Given the description of an element on the screen output the (x, y) to click on. 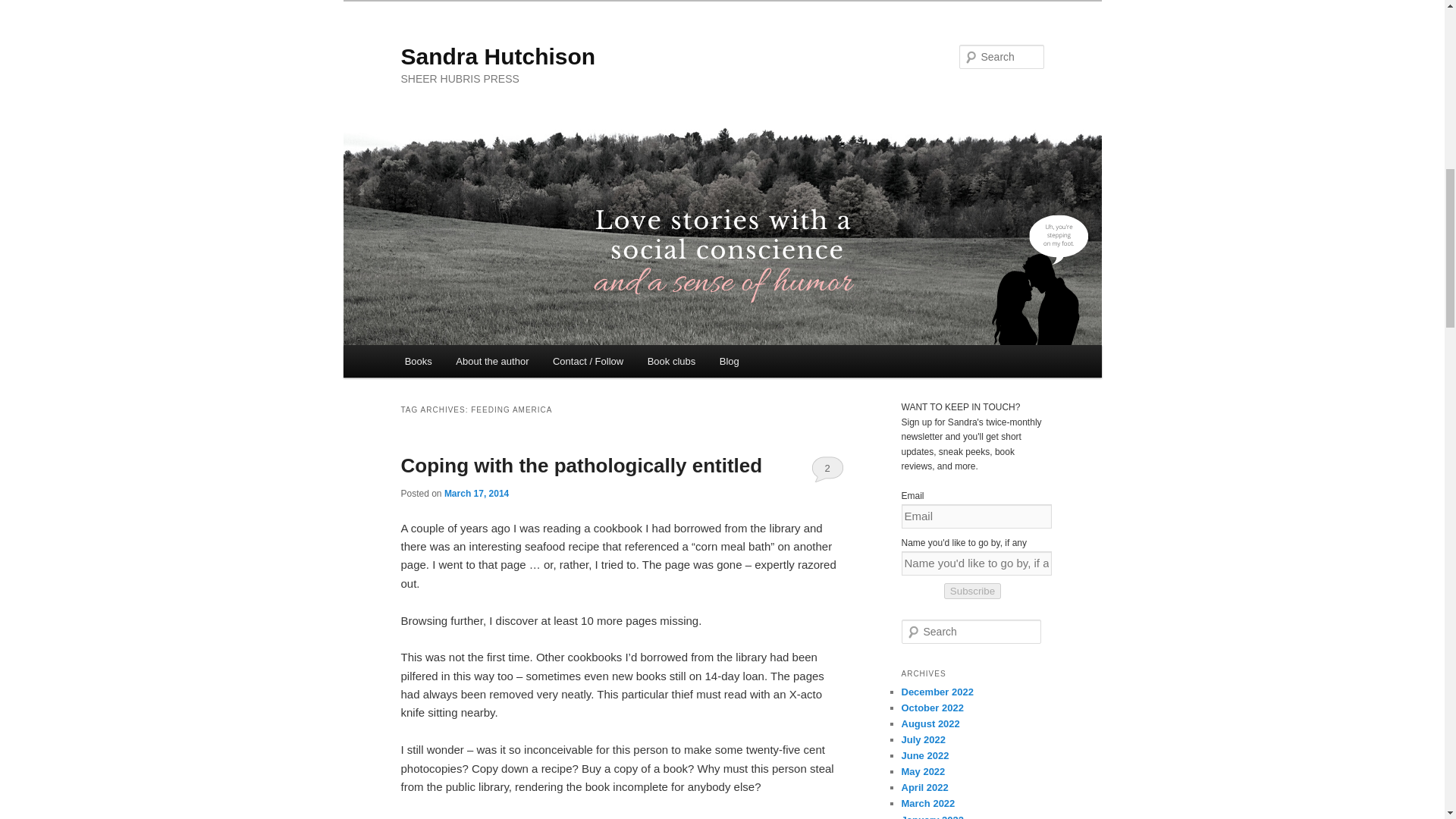
About the author (492, 360)
Coping with the pathologically entitled (580, 465)
March 17, 2014 (476, 493)
2 (827, 468)
Blog (729, 360)
1:40 pm (476, 493)
Book clubs (670, 360)
Books (418, 360)
Sandra Hutchison (497, 56)
